Given the description of an element on the screen output the (x, y) to click on. 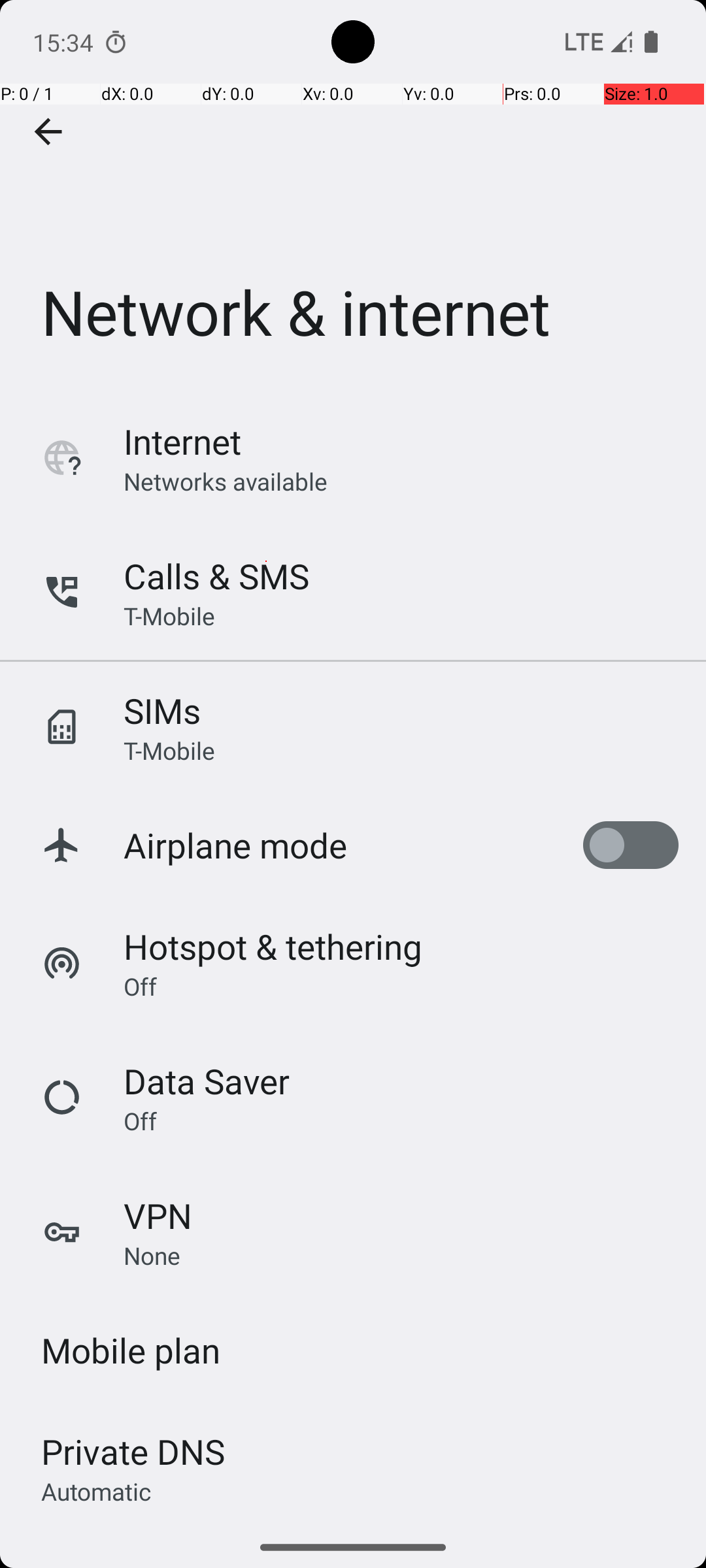
Internet Element type: android.widget.TextView (182, 441)
Networks available Element type: android.widget.TextView (225, 480)
Calls & SMS Element type: android.widget.TextView (216, 575)
SIMs Element type: android.widget.TextView (161, 710)
Airplane mode Element type: android.widget.TextView (235, 844)
Hotspot & tethering Element type: android.widget.TextView (272, 946)
VPN Element type: android.widget.TextView (157, 1215)
Mobile plan Element type: android.widget.TextView (130, 1349)
Private DNS Element type: android.widget.TextView (132, 1451)
Automatic Element type: android.widget.TextView (96, 1490)
